Given the description of an element on the screen output the (x, y) to click on. 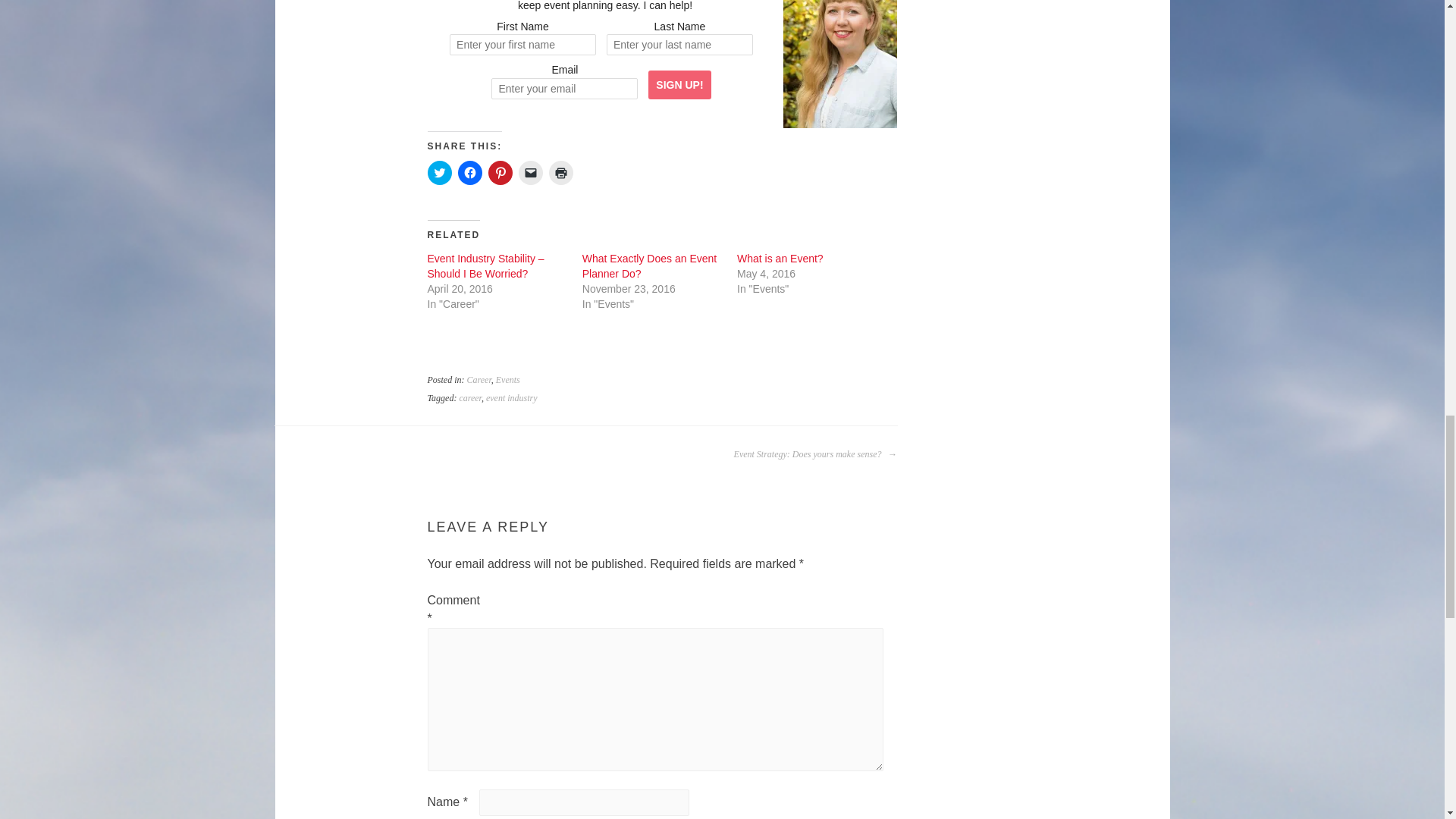
career (469, 398)
Click to print (560, 172)
What is an Event? (780, 258)
Click to email a link to a friend (530, 172)
What Exactly Does an Event Planner Do? (649, 266)
event industry (511, 398)
Click to share on Twitter (439, 172)
Event Strategy: Does yours make sense?  (814, 454)
What is an Event? (780, 258)
Sign Up! (678, 84)
Sign Up! (678, 84)
What Exactly Does an Event Planner Do? (649, 266)
Events (507, 379)
Click to share on Facebook (469, 172)
Click to share on Pinterest (499, 172)
